Given the description of an element on the screen output the (x, y) to click on. 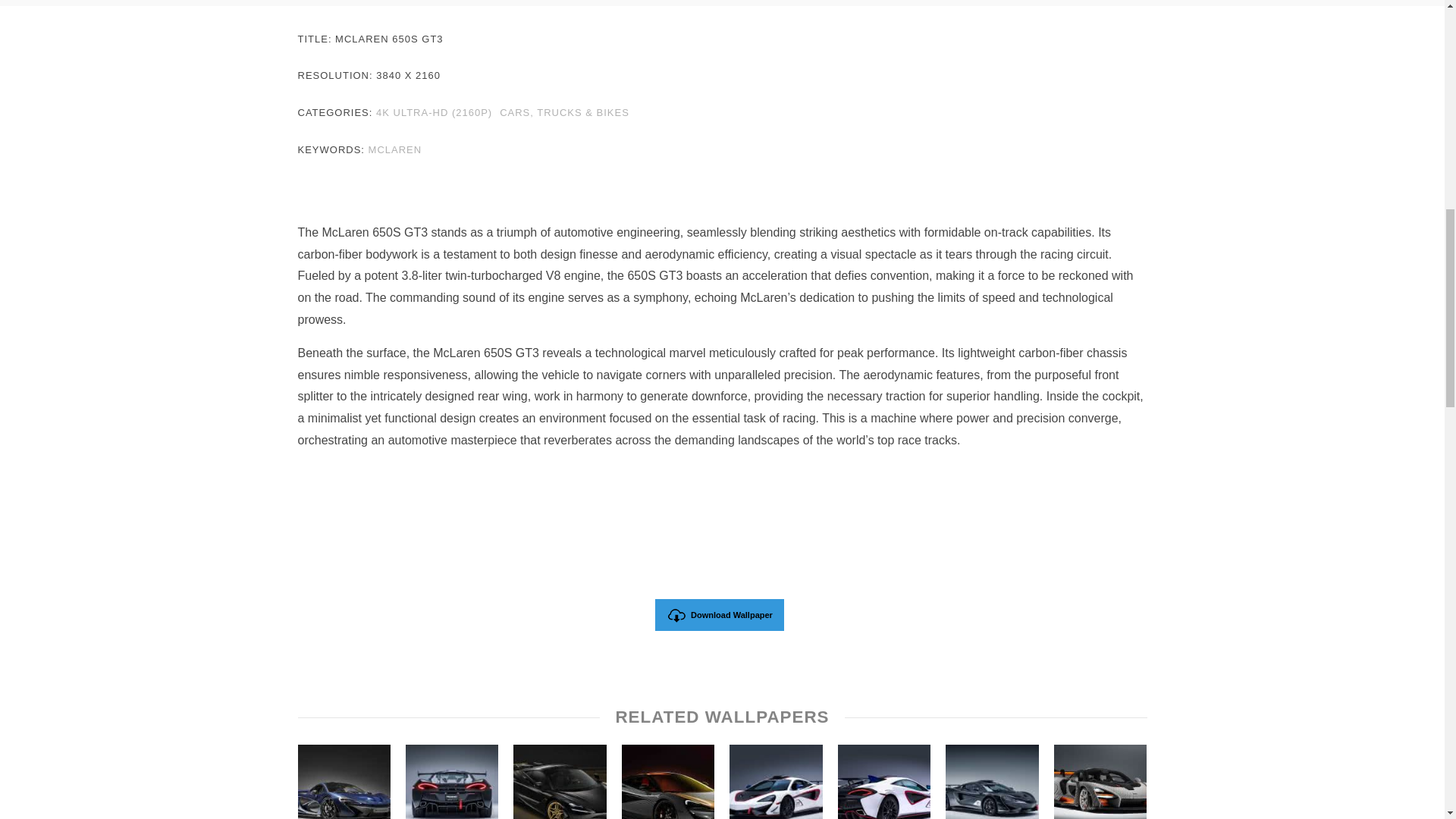
McLaren 600LT (667, 781)
McLaren 570S MSO X Black (991, 781)
Download Wallpaper (719, 614)
McLaren 720S MSO Black And Gold (560, 781)
MCLAREN (395, 151)
Lego McLaren Senna (1100, 781)
McLaren 570S GT4 MSO X White Rear (884, 781)
McLaren P1 Blue (343, 781)
McLaren 570S MSO X Black Back (452, 781)
McLaren MSO X Front (775, 781)
